Given the description of an element on the screen output the (x, y) to click on. 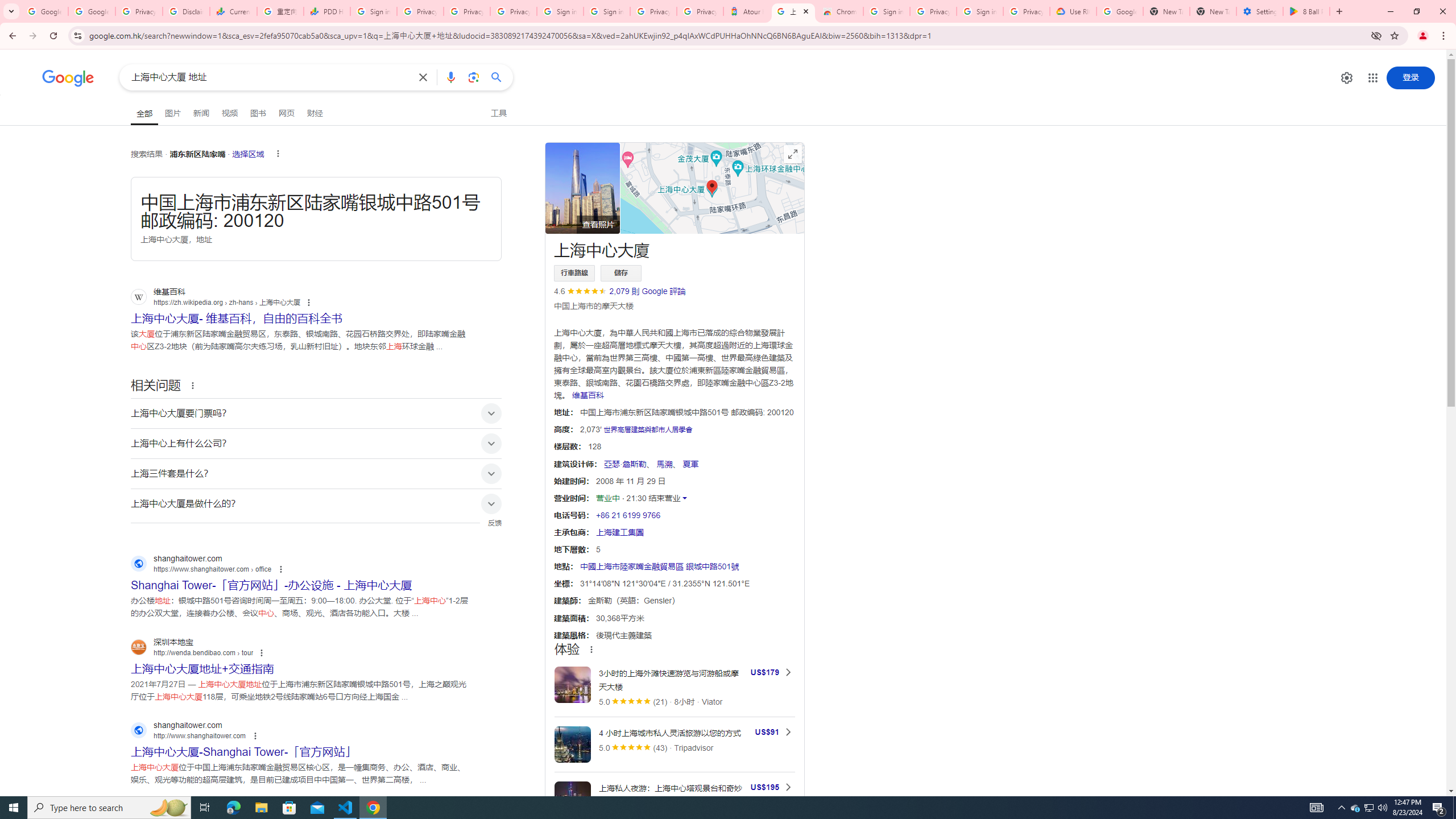
Sign in - Google Accounts (373, 11)
Privacy Checkup (466, 11)
Currencies - Google Finance (233, 11)
